Given the description of an element on the screen output the (x, y) to click on. 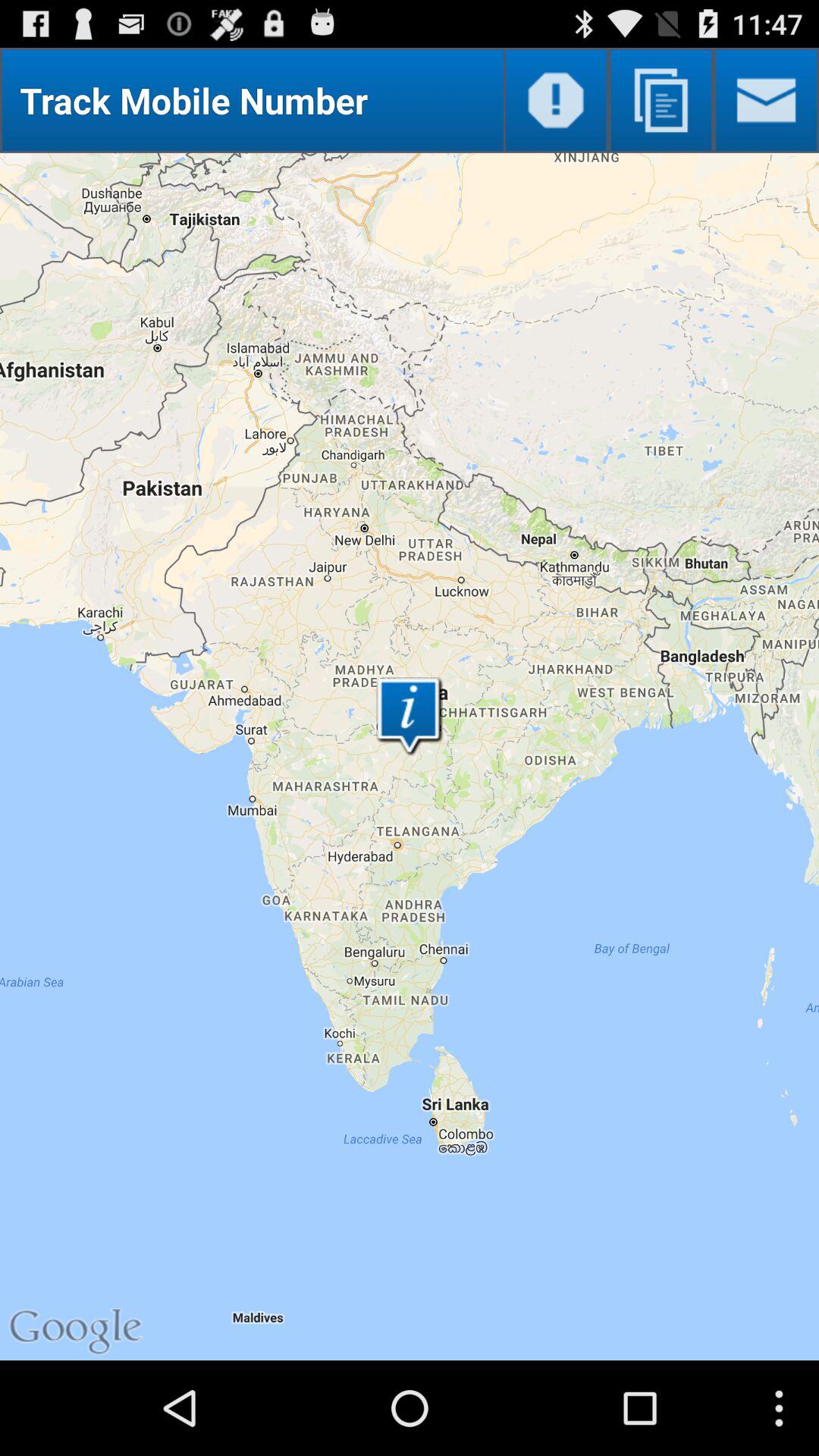
copy option (660, 99)
